Given the description of an element on the screen output the (x, y) to click on. 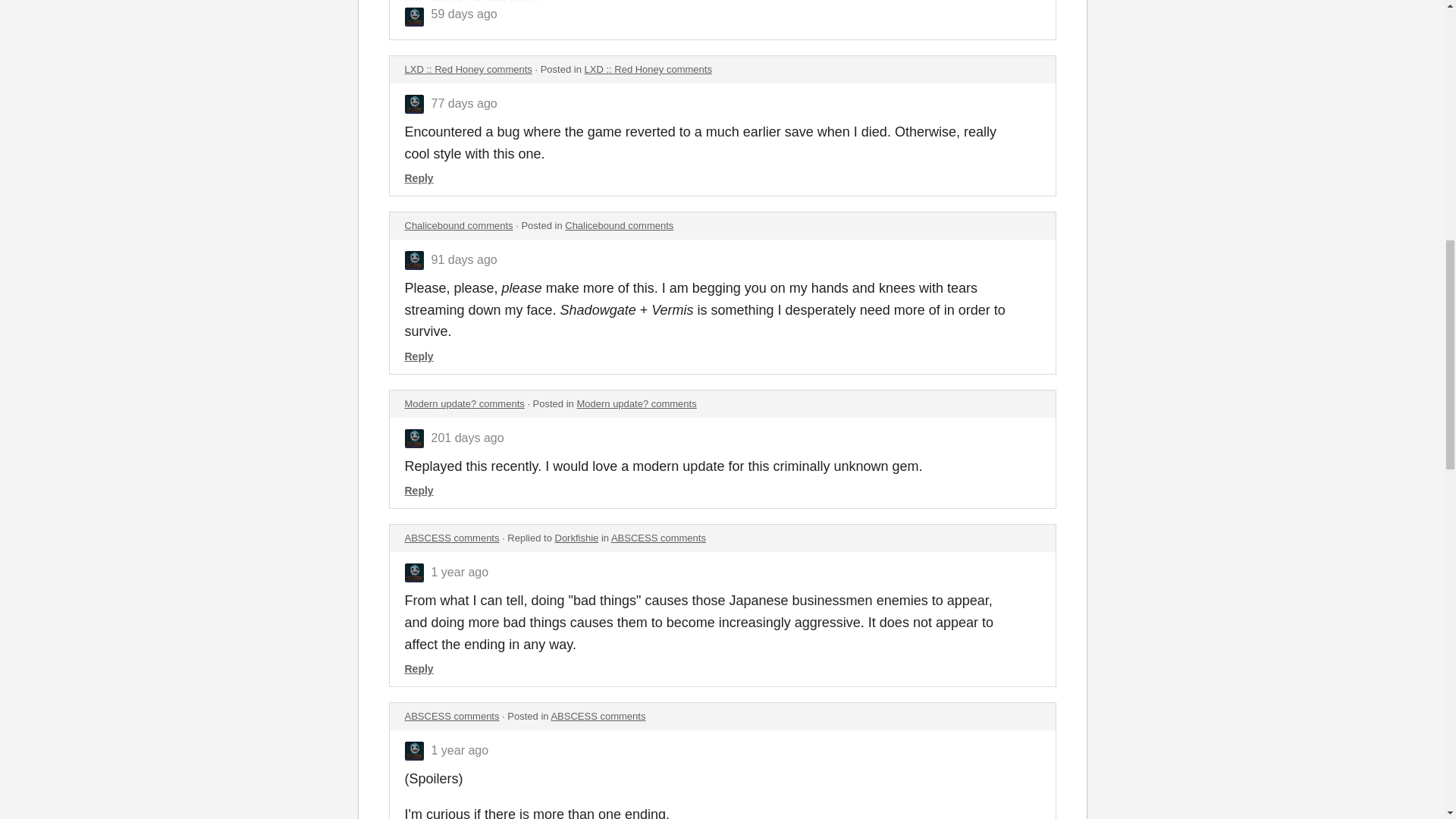
2024-06-03 16:00:56 (463, 259)
2024-02-13 23:37:58 (466, 437)
2023-05-05 15:24:28 (458, 749)
2024-06-17 03:18:44 (463, 103)
2023-05-05 15:26:08 (458, 571)
